Given the description of an element on the screen output the (x, y) to click on. 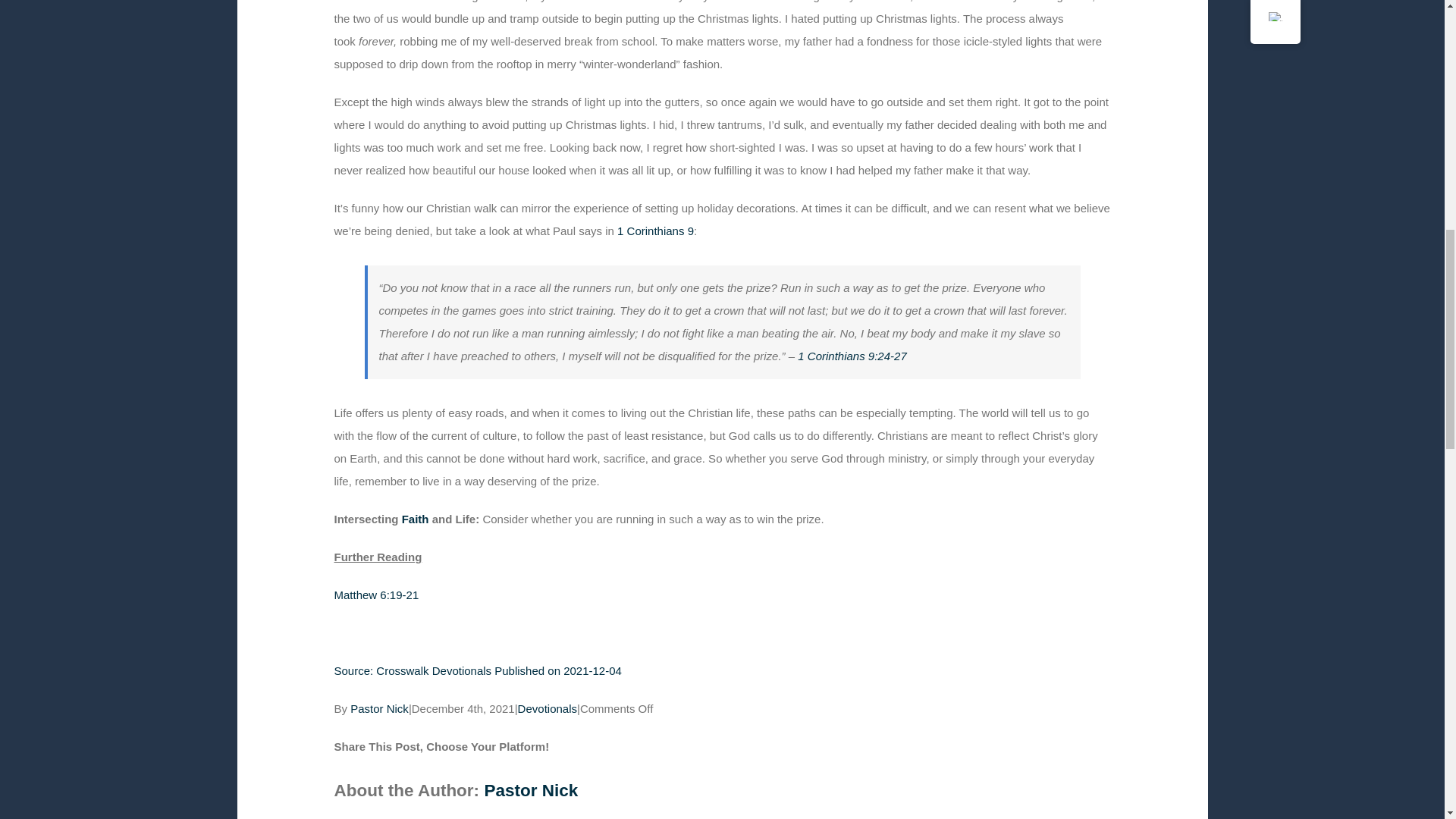
Posts by Pastor Nick (379, 707)
Posts by Pastor Nick (530, 790)
